Given the description of an element on the screen output the (x, y) to click on. 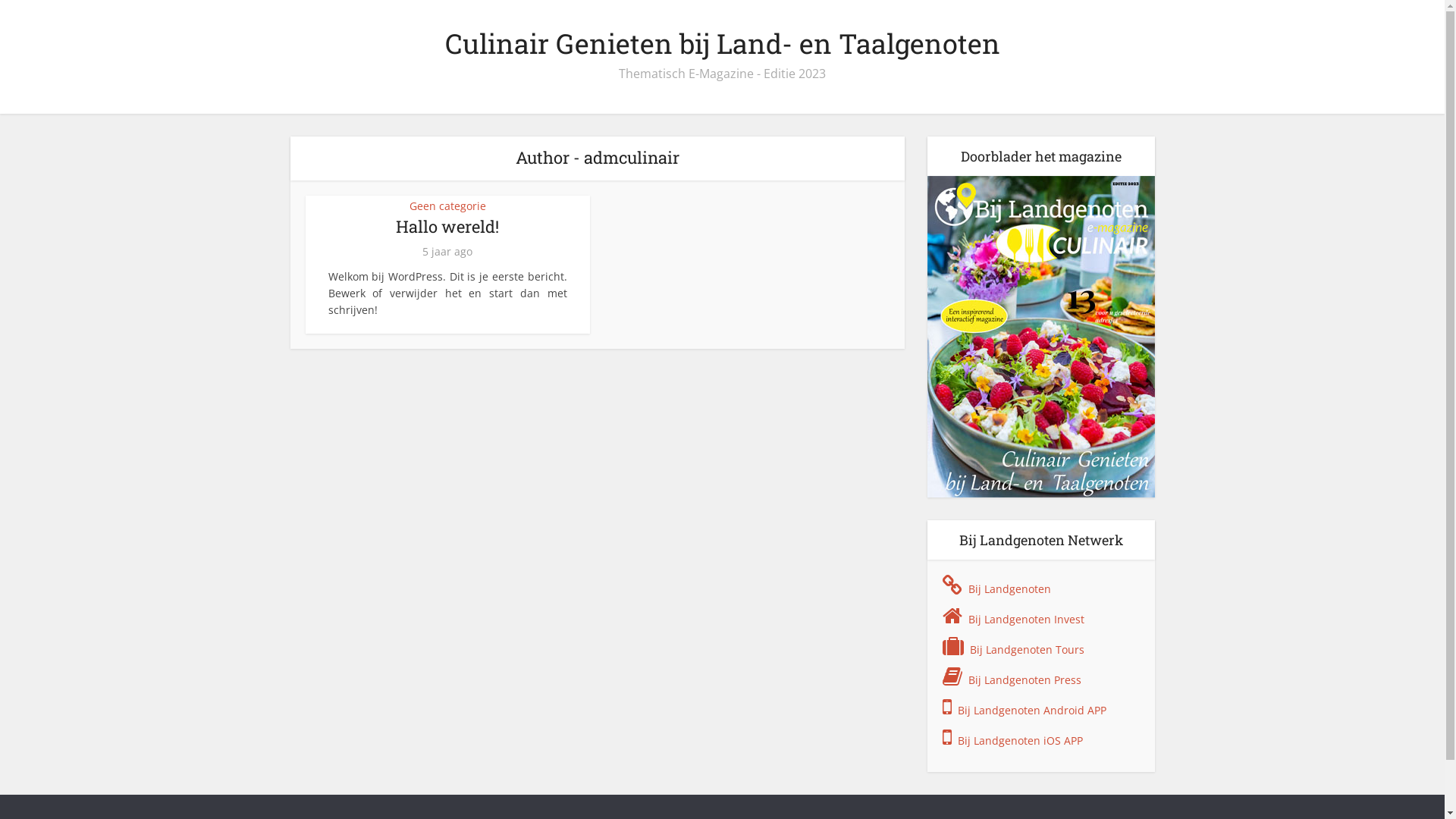
Bij Landgenoten Invest Element type: text (1025, 618)
Bij Landgenoten Tours Element type: text (1026, 649)
Bij Landgenoten Android APP Element type: text (1031, 709)
Geen categorie Element type: text (447, 206)
Bij Landgenoten Press Element type: text (1023, 679)
Hallo wereld! Element type: text (446, 226)
Culinair Genieten bij Land- en Taalgenoten Element type: text (721, 42)
Bij Landgenoten Element type: text (1008, 588)
Bij Landgenoten iOS APP Element type: text (1019, 740)
